Given the description of an element on the screen output the (x, y) to click on. 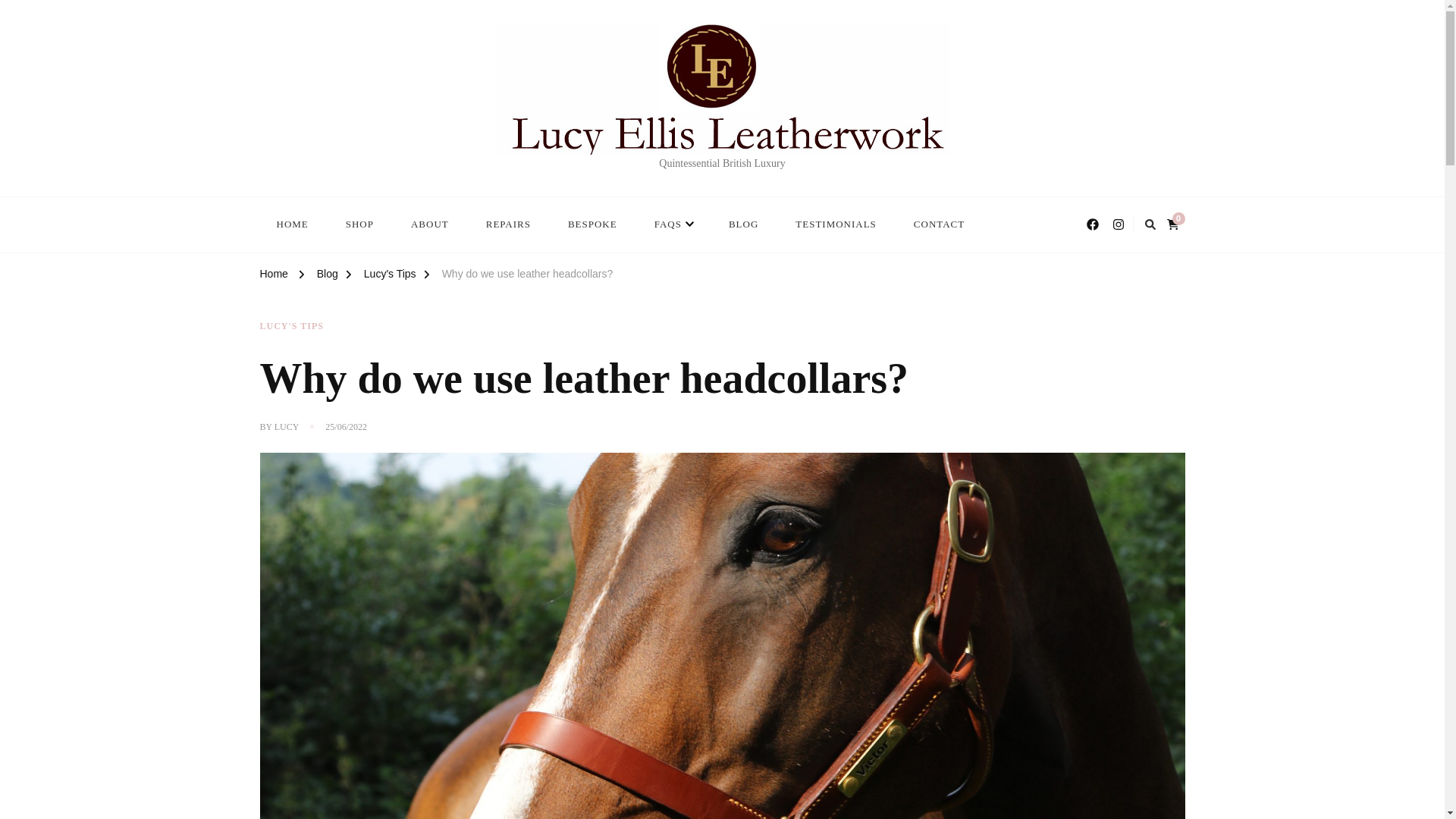
LUCY (287, 427)
Home (272, 275)
HOME (291, 224)
BESPOKE (592, 224)
CONTACT (938, 224)
Why do we use leather headcollars? (527, 275)
FAQS (672, 224)
Blog (327, 275)
BLOG (742, 224)
ABOUT (429, 224)
Lucy's Tips (390, 275)
SHOP (359, 224)
TESTIMONIALS (835, 224)
LUCY'S TIPS (291, 326)
View your shopping cart (1176, 221)
